Given the description of an element on the screen output the (x, y) to click on. 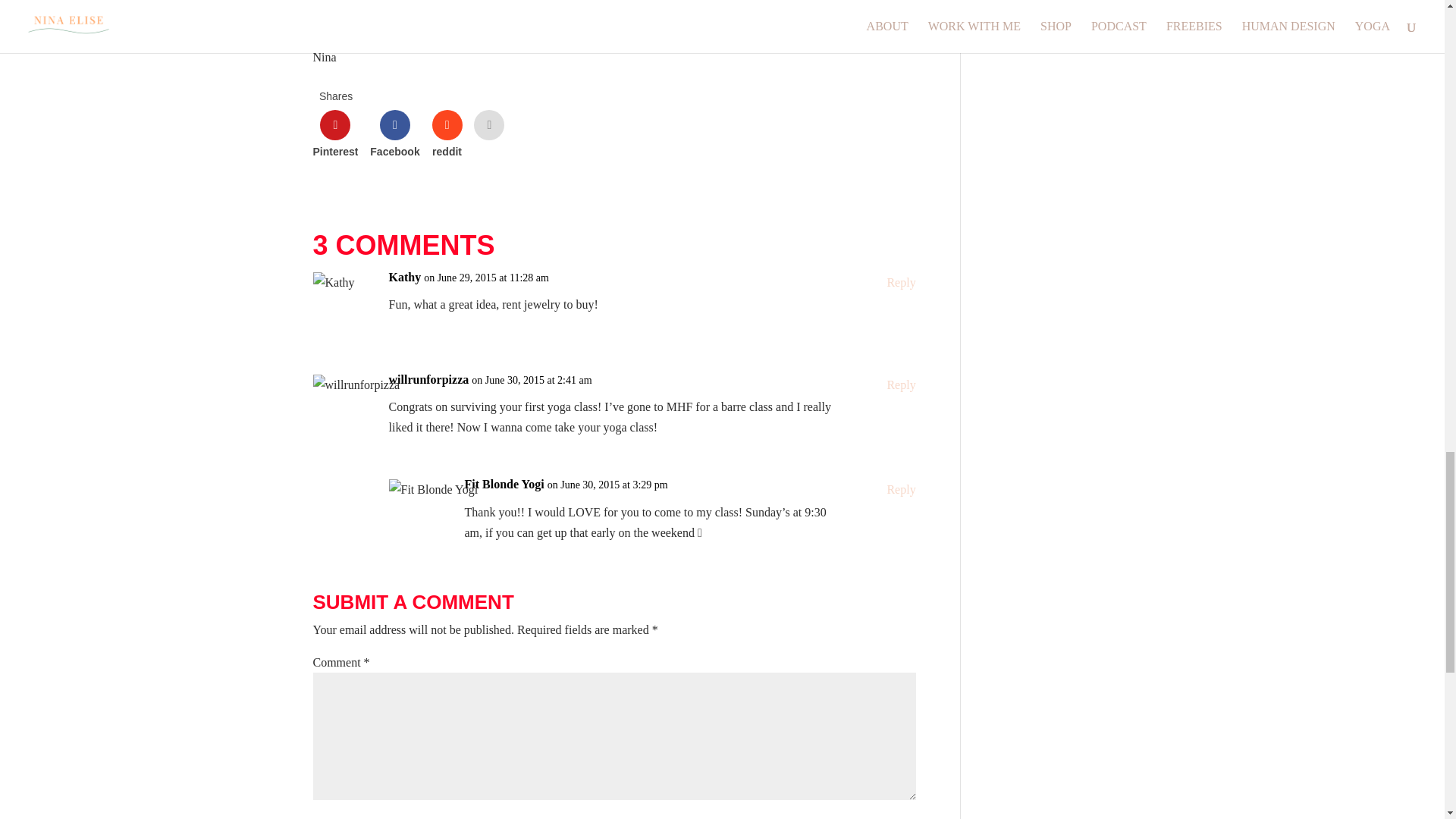
Reply (900, 489)
Facebook (394, 133)
Reply (900, 384)
Pinterest (335, 133)
Reply (900, 281)
willrunforpizza (428, 379)
Fit Blonde Yogi (503, 484)
